Given the description of an element on the screen output the (x, y) to click on. 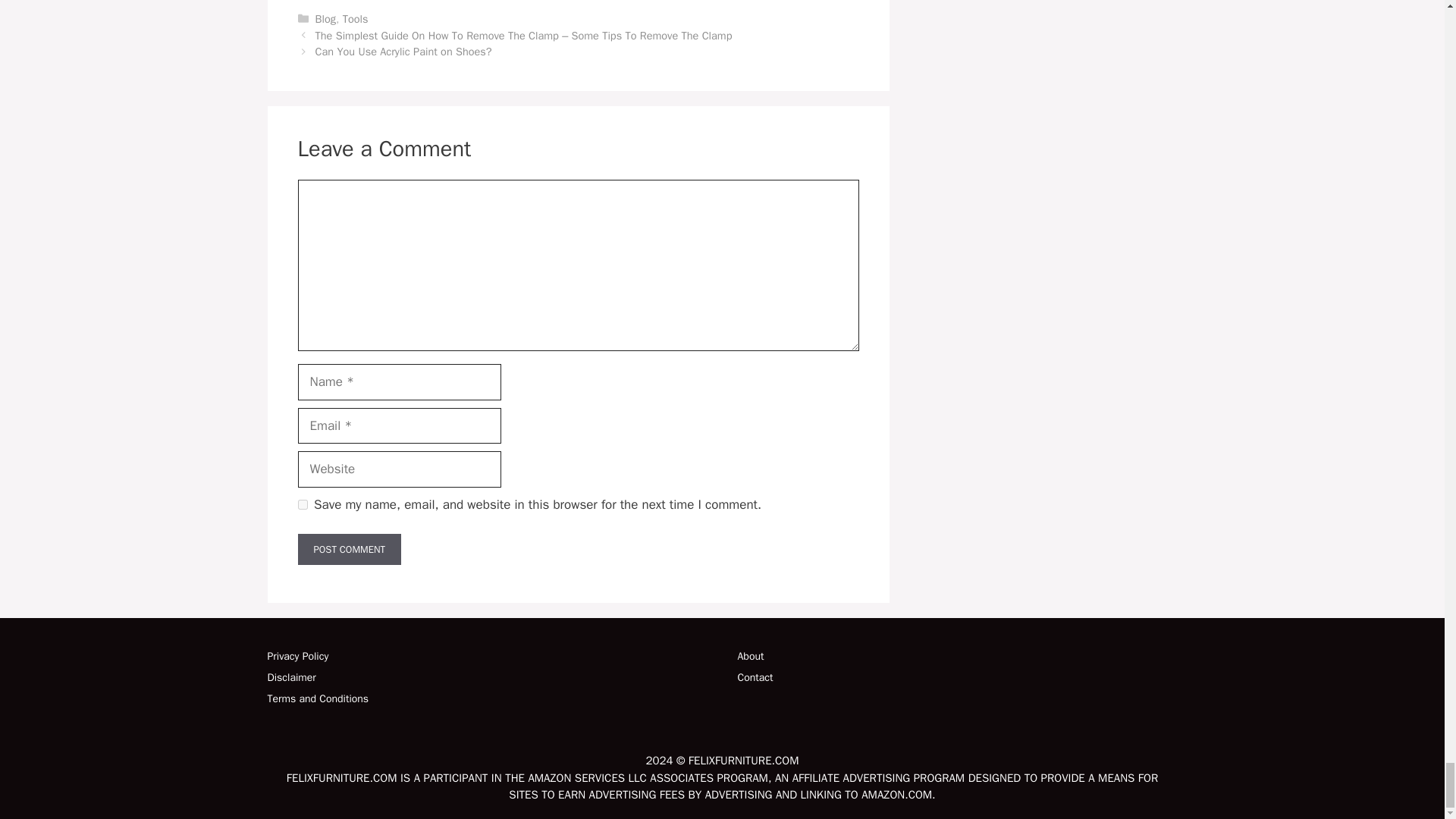
yes (302, 504)
Blog (325, 18)
Post Comment (349, 549)
Can You Use Acrylic Paint on Shoes? (403, 51)
Next (403, 51)
Tools (355, 18)
Previous (523, 35)
Post Comment (349, 549)
